Given the description of an element on the screen output the (x, y) to click on. 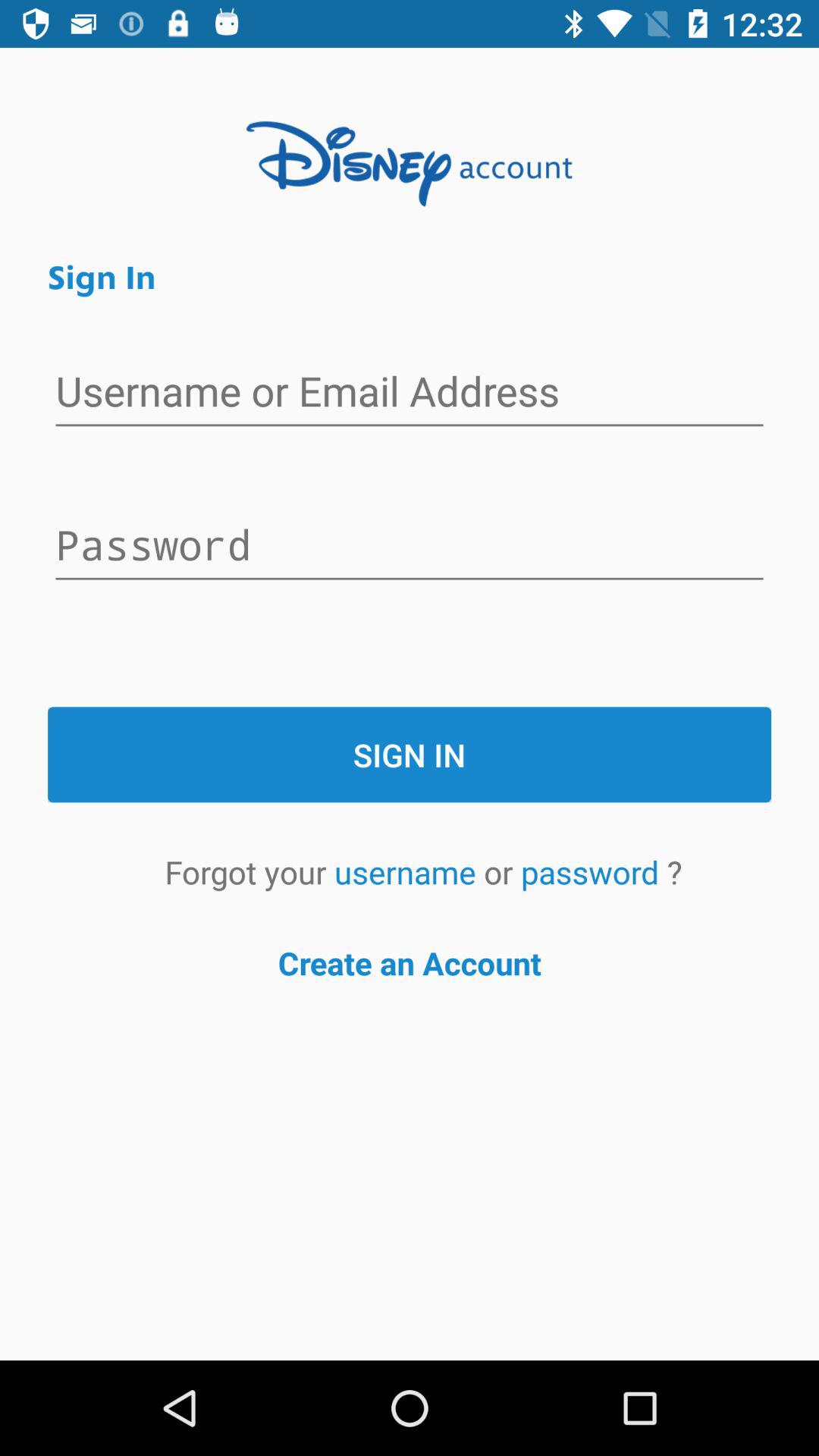
enter username or email (409, 393)
